Given the description of an element on the screen output the (x, y) to click on. 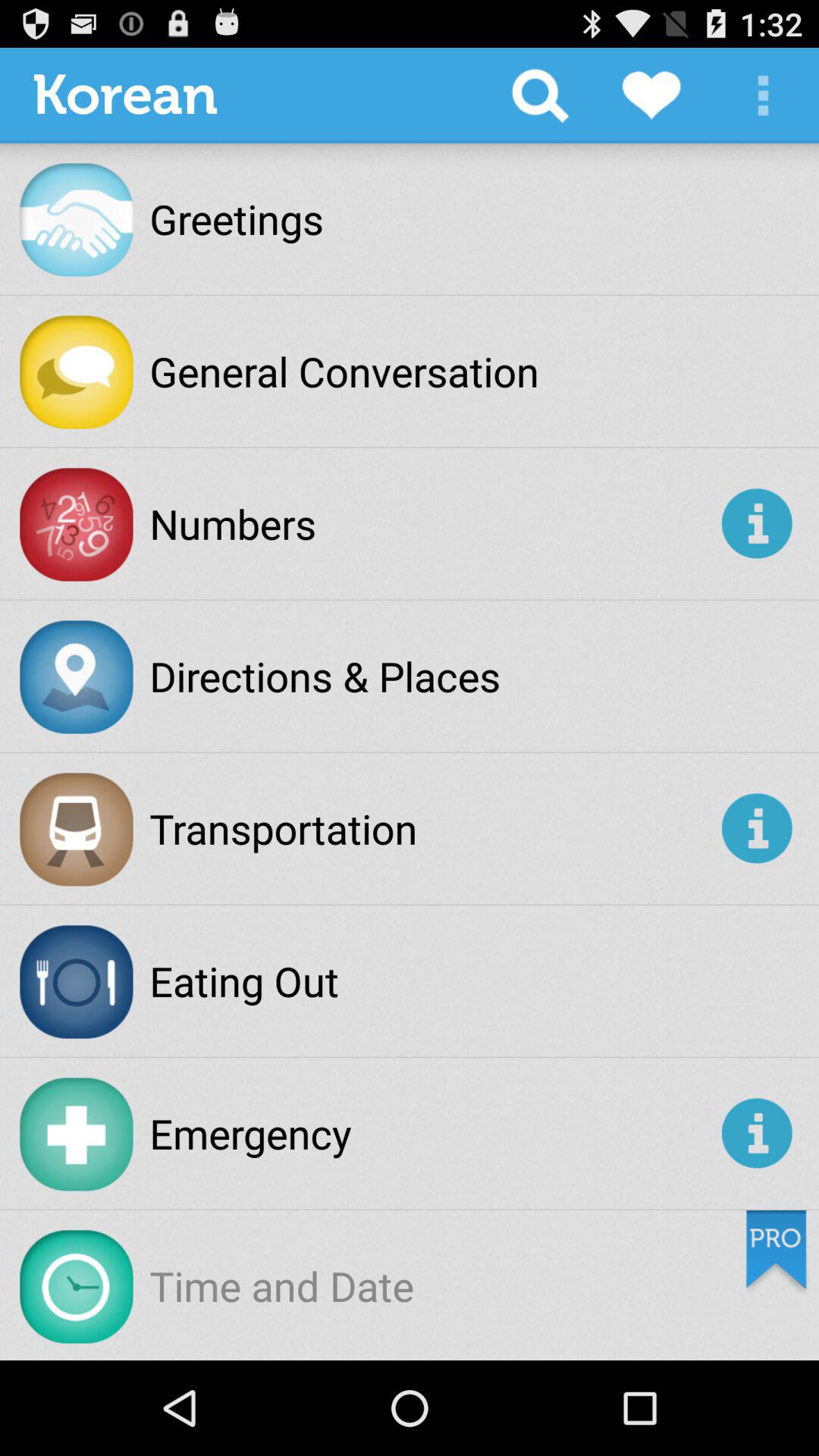
click the app below korean icon (236, 218)
